Given the description of an element on the screen output the (x, y) to click on. 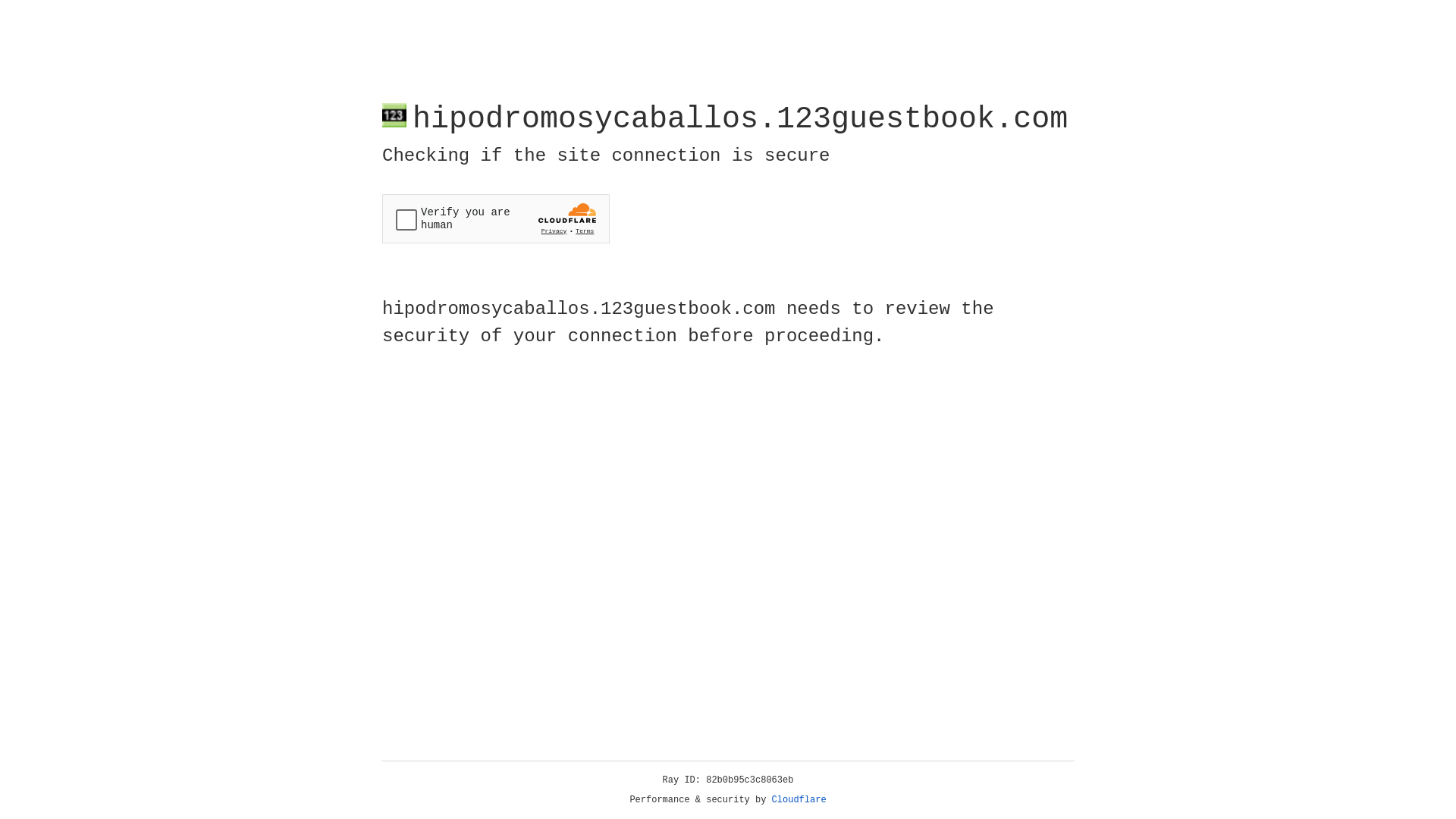
Cloudflare Element type: text (798, 799)
Widget containing a Cloudflare security challenge Element type: hover (495, 218)
